Given the description of an element on the screen output the (x, y) to click on. 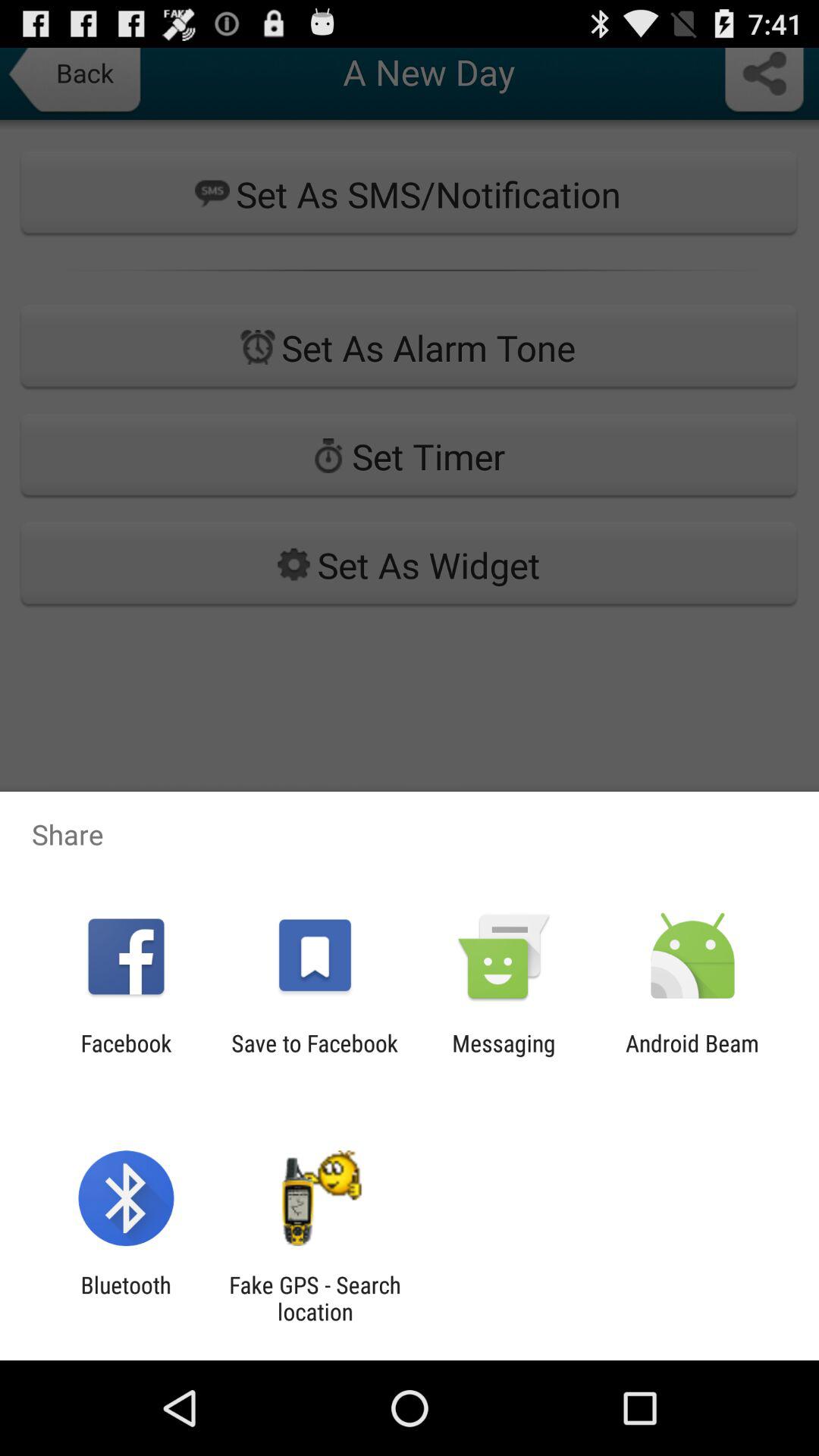
select the messaging icon (503, 1056)
